Given the description of an element on the screen output the (x, y) to click on. 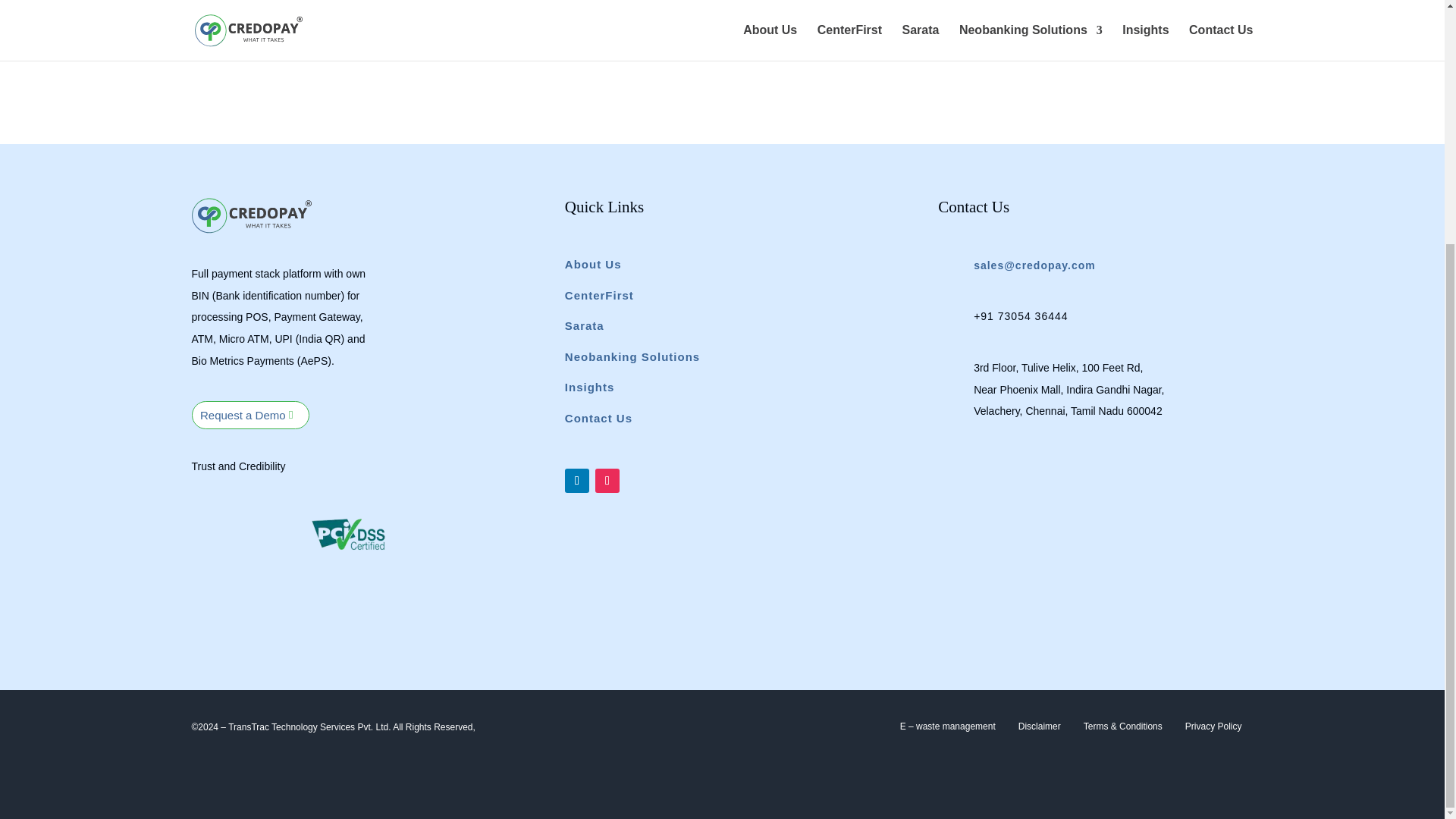
Follow on Instagram (607, 480)
Follow on LinkedIn (576, 480)
Request a Demo (249, 415)
Insights (589, 387)
Sarata (584, 325)
Privacy Policy (1213, 726)
Disclaimer (1039, 726)
Neobanking Solutions (632, 356)
pci-1443d931 (348, 534)
Contact Us (597, 418)
Submit (1220, 16)
About Us (592, 264)
CenterFirst (598, 295)
